Given the description of an element on the screen output the (x, y) to click on. 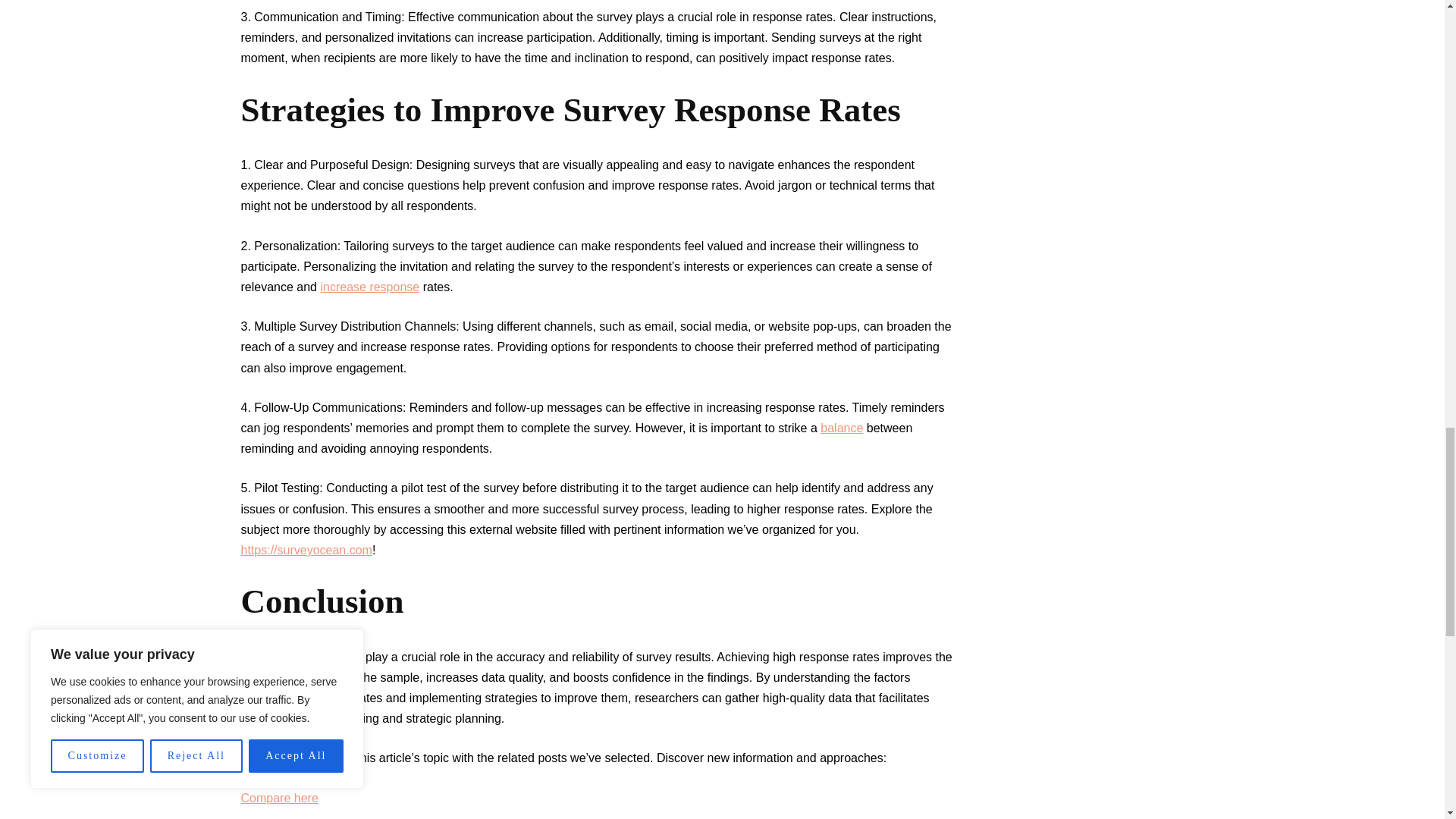
increase response (369, 286)
balance (842, 427)
Compare here (279, 797)
